Given the description of an element on the screen output the (x, y) to click on. 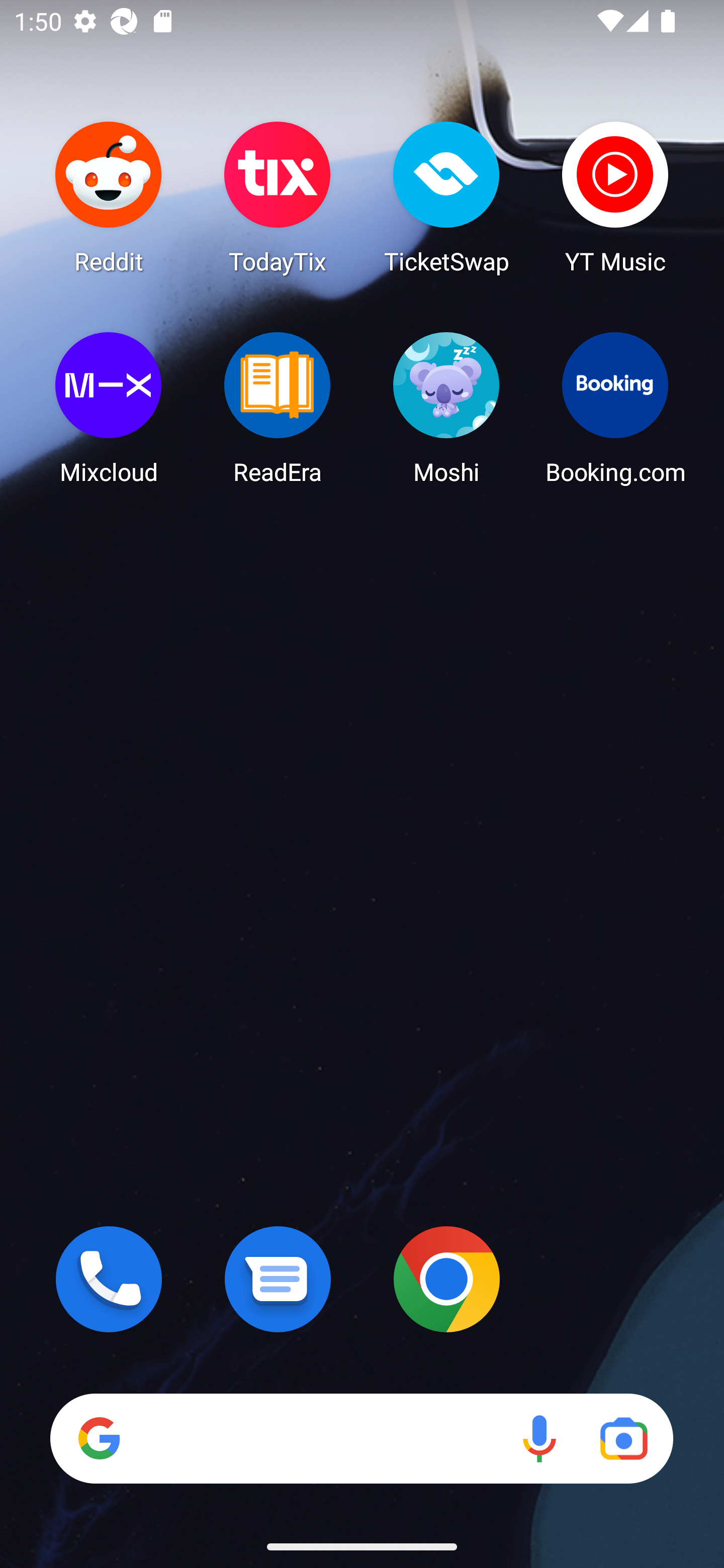
Reddit (108, 196)
TodayTix (277, 196)
TicketSwap (445, 196)
YT Music (615, 196)
Mixcloud (108, 407)
ReadEra (277, 407)
Moshi (445, 407)
Booking.com (615, 407)
Phone (108, 1279)
Messages (277, 1279)
Chrome (446, 1279)
Search Voice search Google Lens (361, 1438)
Voice search (539, 1438)
Google Lens (623, 1438)
